Given the description of an element on the screen output the (x, y) to click on. 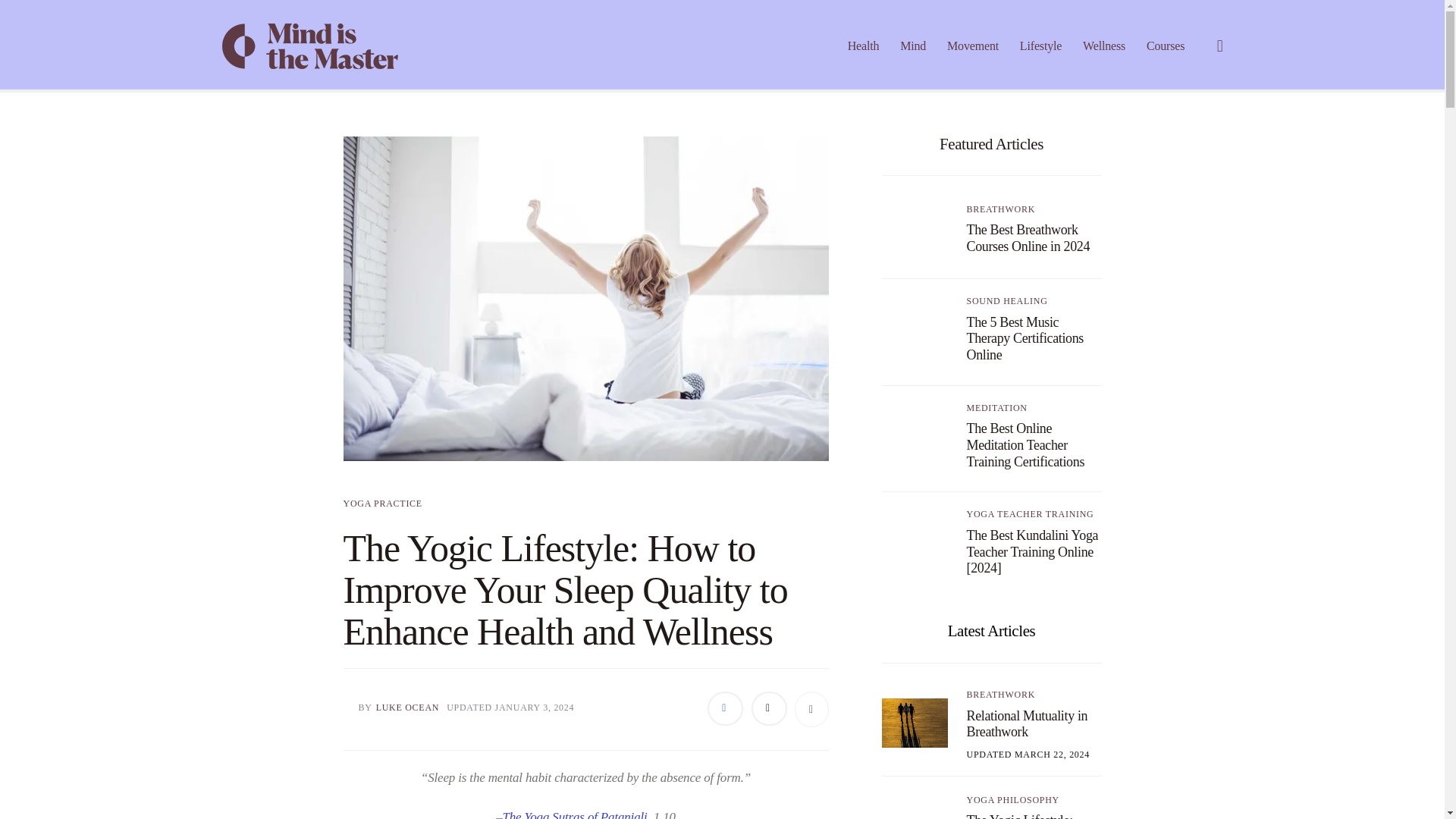
Mind (912, 45)
Health (863, 45)
YOGA PRACTICE (382, 502)
Wellness (1104, 45)
Lifestyle (1040, 45)
Courses (1165, 45)
LUKE OCEAN (407, 707)
Copy URL to clipboard (811, 709)
Movement (972, 45)
